Given the description of an element on the screen output the (x, y) to click on. 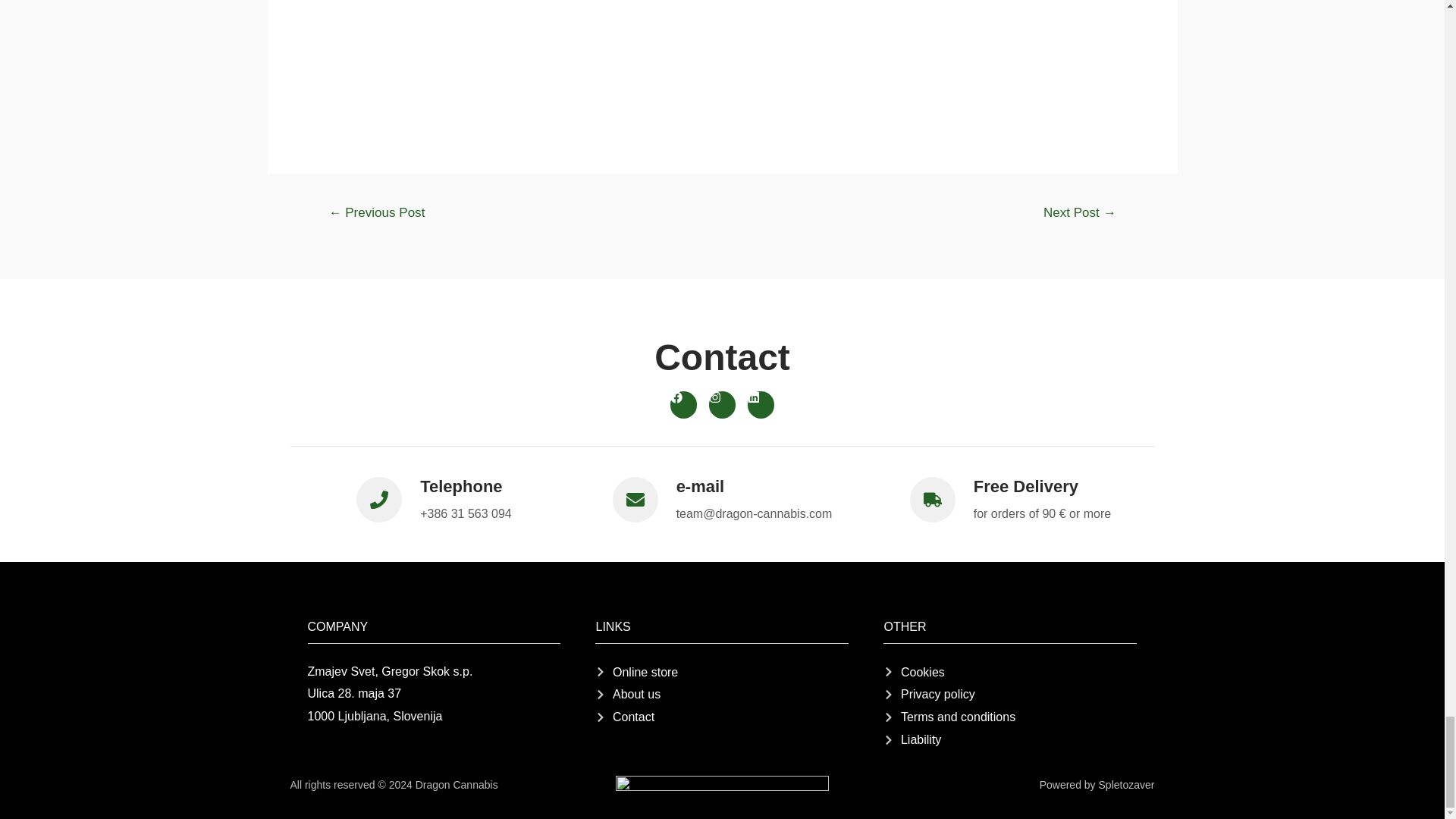
Instagram (722, 404)
Cookies (1010, 671)
Privacy policy (1010, 694)
Online store (721, 671)
Contact (721, 716)
e-mail (701, 486)
Facebook (683, 404)
Terms and conditions (1010, 716)
Linkedin (761, 404)
About us (721, 694)
